Given the description of an element on the screen output the (x, y) to click on. 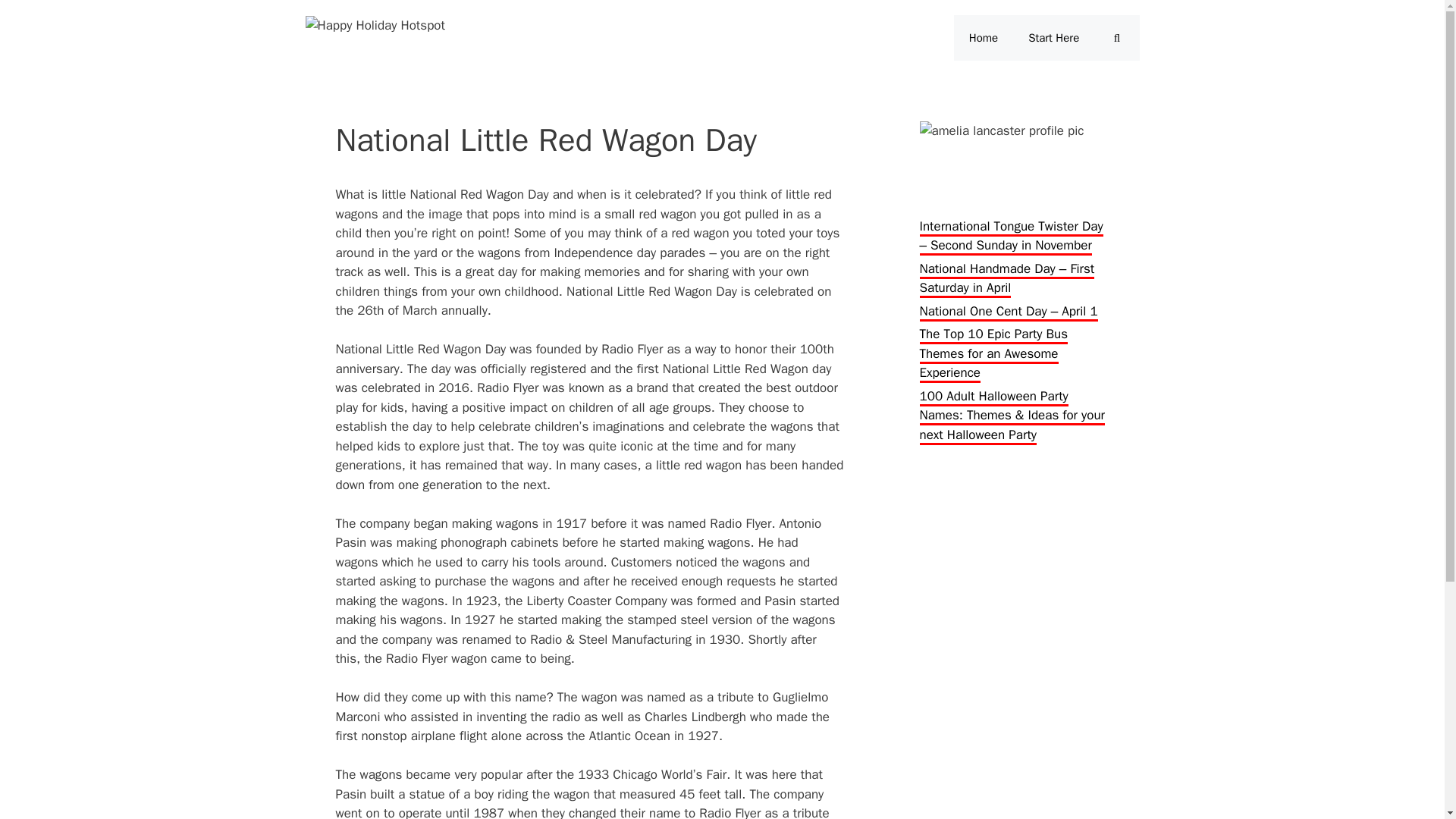
Home (983, 37)
Start Here (1053, 37)
The Top 10 Epic Party Bus Themes for an Awesome Experience (992, 354)
